Given the description of an element on the screen output the (x, y) to click on. 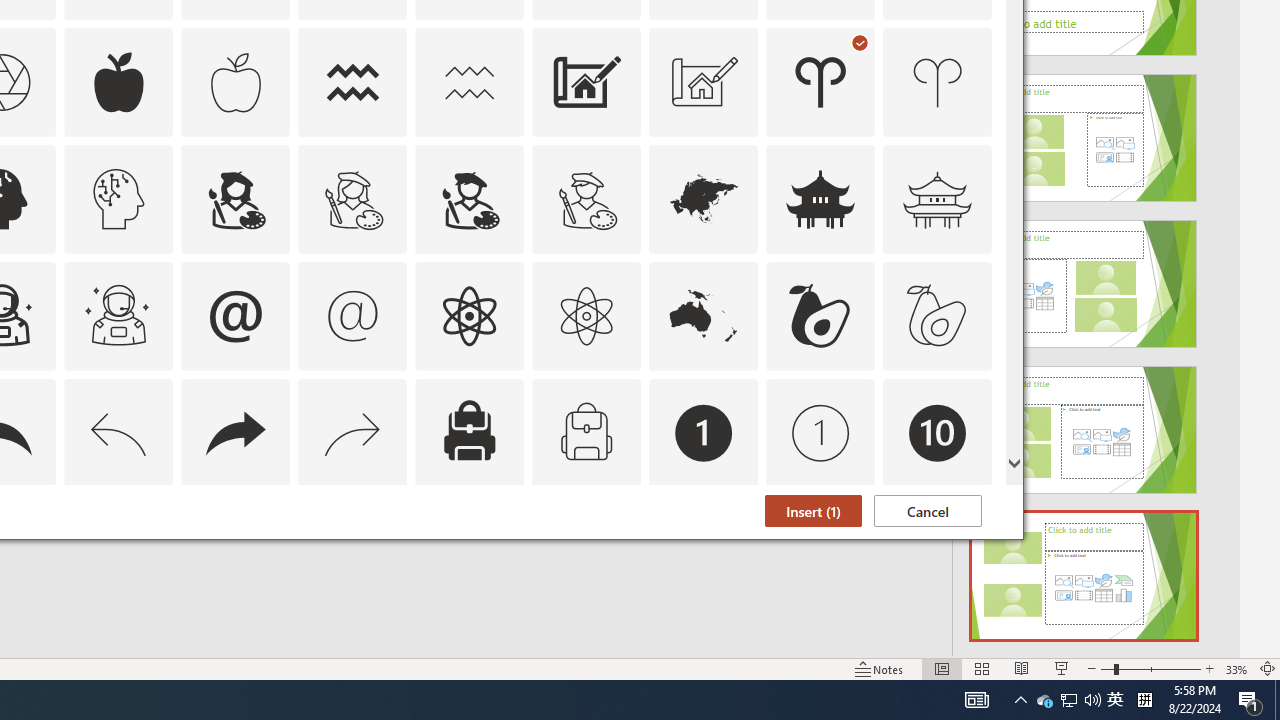
AutomationID: Icons_Backpack_M (586, 432)
IME Mode Icon - IME is disabled (1115, 699)
AutomationID: Icons_AstronautMale_M (118, 316)
AutomationID: Icons_ArtistFemale_M (353, 198)
AutomationID: Icons_Avocado_M (938, 316)
AutomationID: Icons_Architecture (586, 82)
AutomationID: Icons_Backpack (469, 432)
AutomationID: Icons_ArtistMale_M (586, 198)
